Given the description of an element on the screen output the (x, y) to click on. 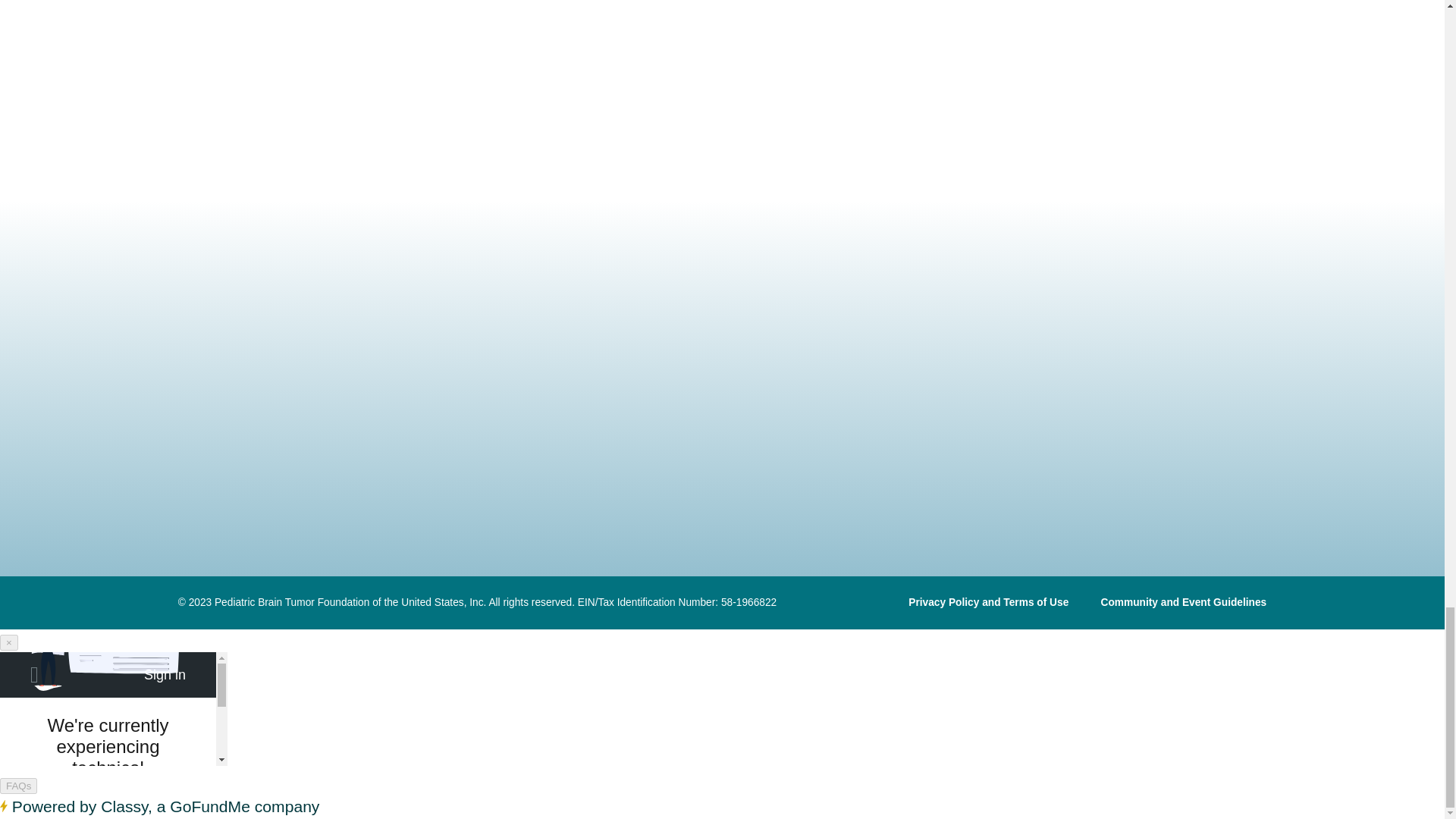
Privacy Policy and Terms of Use (988, 602)
Sign Up for Emails (320, 459)
Community and Event Guidelines (1183, 602)
